Given the description of an element on the screen output the (x, y) to click on. 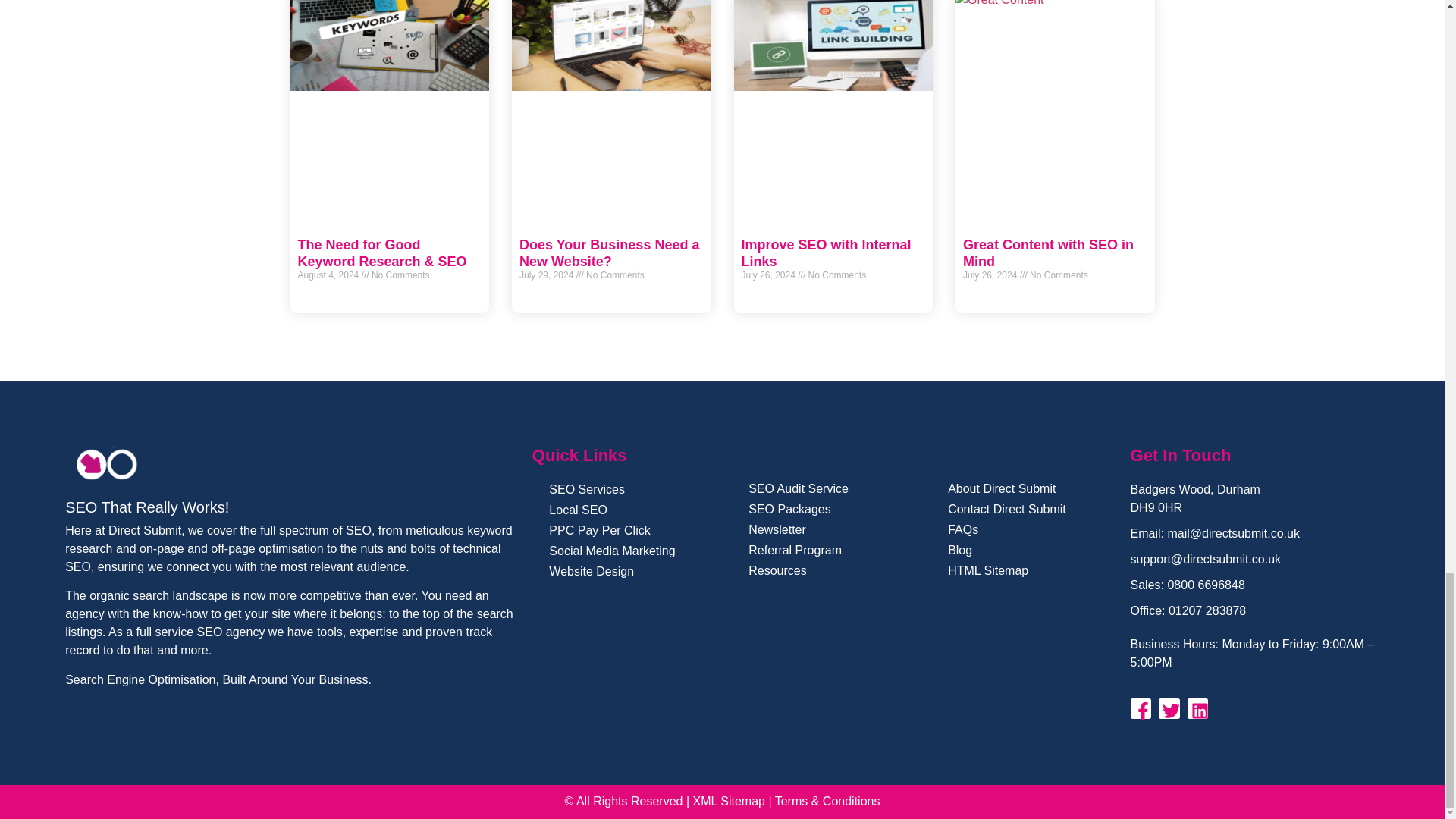
Does Your Business Need a New Website? (608, 253)
